Given the description of an element on the screen output the (x, y) to click on. 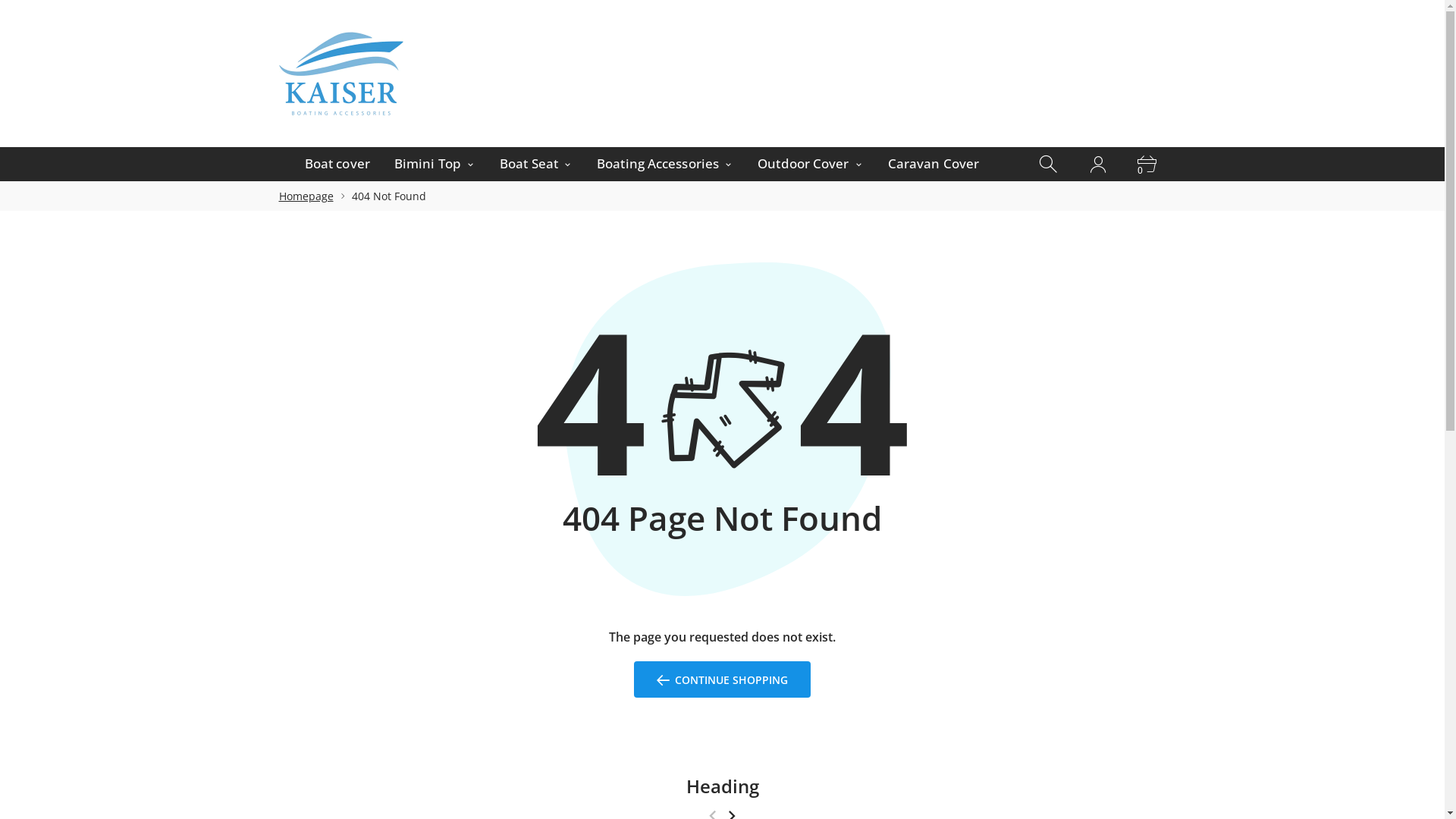
Caravan Cover Element type: text (933, 163)
Log in Element type: hover (1097, 163)
Outdoor Cover Element type: text (810, 164)
Boat Seat Element type: text (535, 164)
Bimini Top Element type: text (434, 164)
Homepage Element type: text (306, 195)
Search Element type: hover (1049, 163)
Boat cover Element type: text (337, 163)
Boating Accessories Element type: text (664, 164)
0 Element type: text (1148, 163)
CONTINUE SHOPPING Element type: text (722, 679)
